Given the description of an element on the screen output the (x, y) to click on. 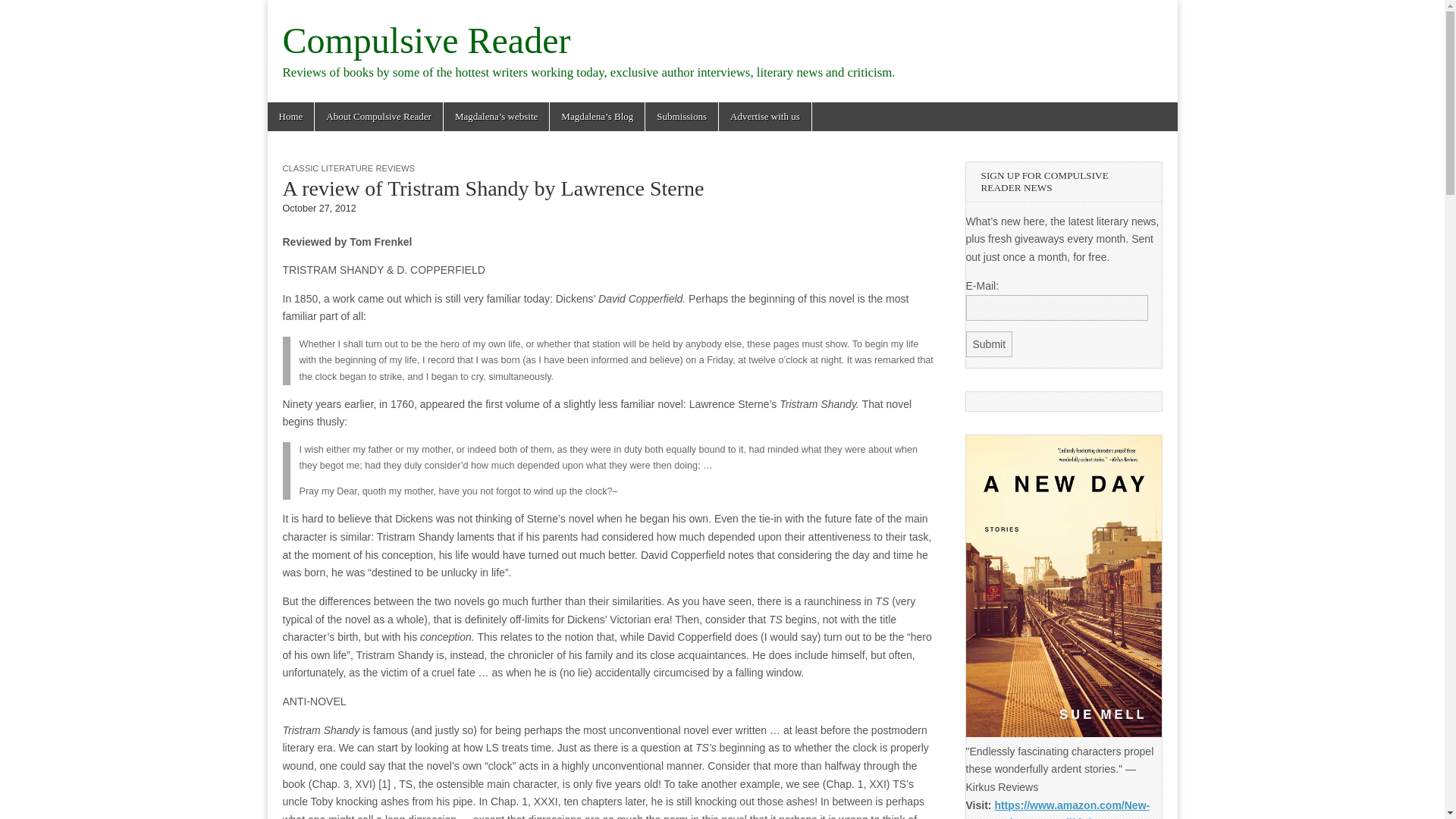
Compulsive Reader (426, 40)
Submit (989, 344)
Submit (989, 344)
Compulsive Reader (426, 40)
Advertise with us (764, 116)
Home (290, 116)
Submissions (681, 116)
CLASSIC LITERATURE REVIEWS (347, 167)
